Given the description of an element on the screen output the (x, y) to click on. 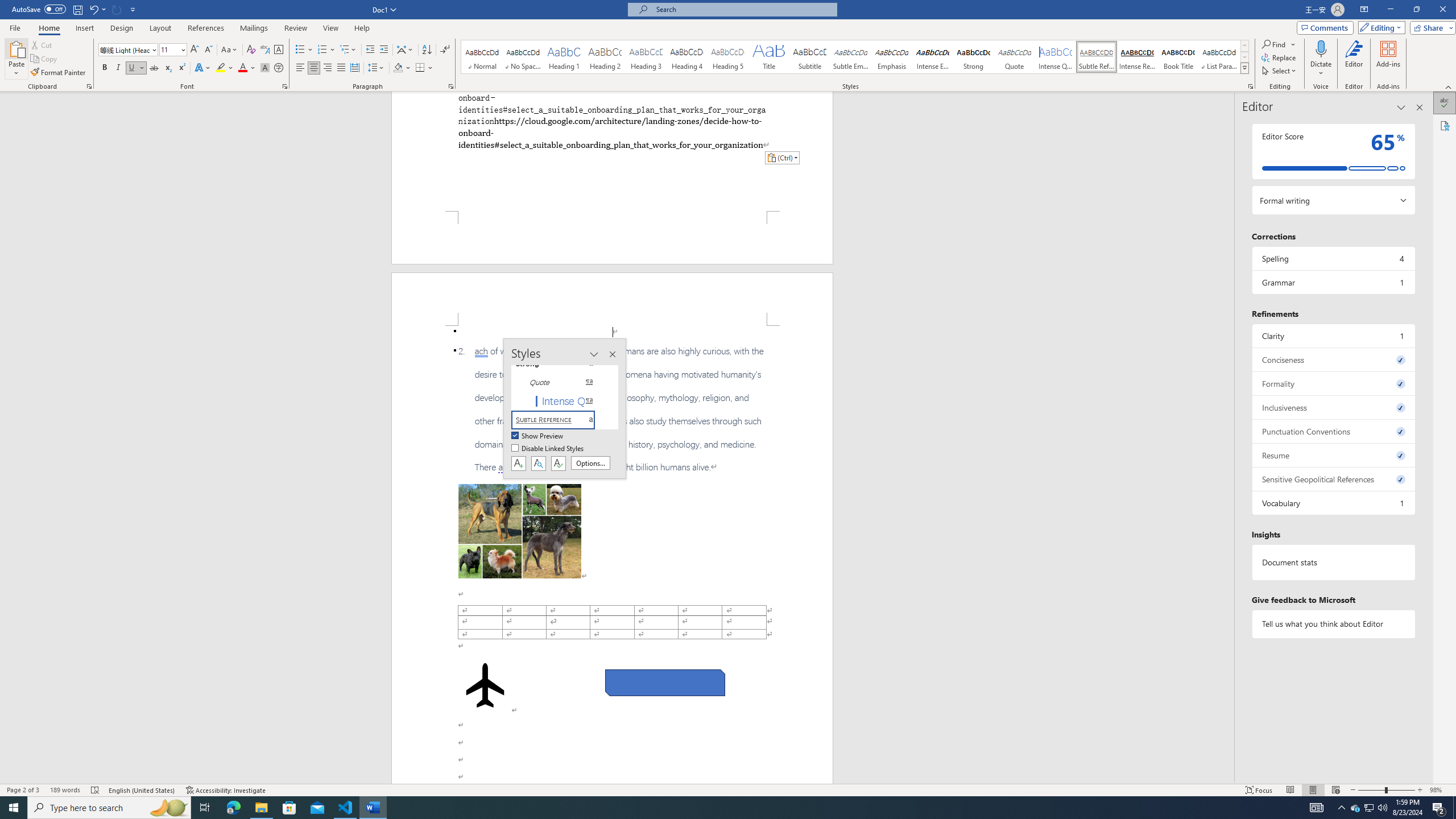
Clarity, 1 issue. Press space or enter to review items. (1333, 335)
Spelling, 4 issues. Press space or enter to review items. (1333, 258)
